Given the description of an element on the screen output the (x, y) to click on. 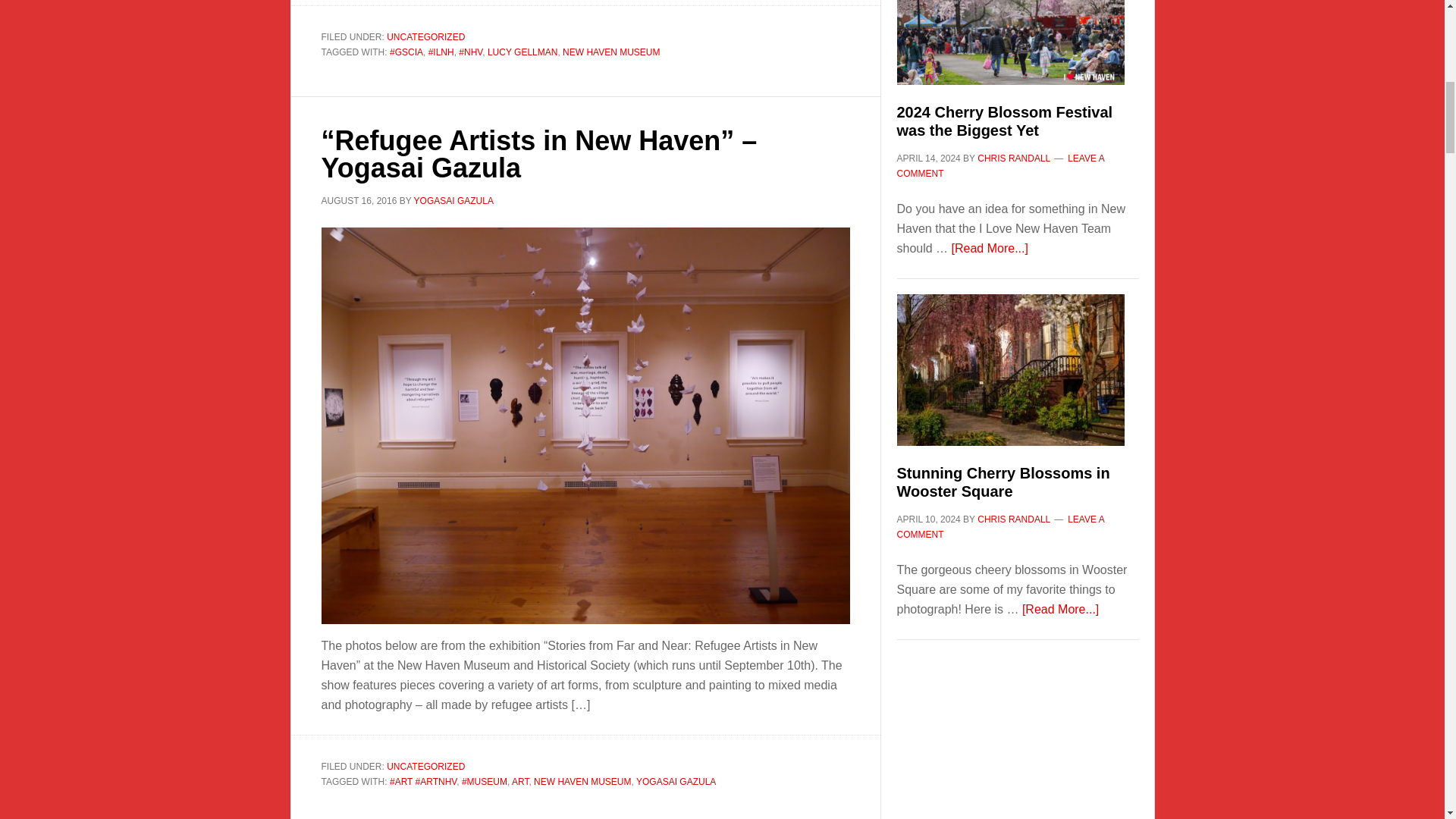
LUCY GELLMAN (522, 51)
NEW HAVEN MUSEUM (610, 51)
ART (520, 781)
UNCATEGORIZED (425, 36)
LEAVE A COMMENT (999, 166)
YOGASAI GAZULA (453, 200)
2024 Cherry Blossom Festival was the Biggest Yet (1004, 121)
NEW HAVEN MUSEUM (582, 781)
UNCATEGORIZED (425, 766)
YOGASAI GAZULA (676, 781)
CHRIS RANDALL (1012, 158)
